Given the description of an element on the screen output the (x, y) to click on. 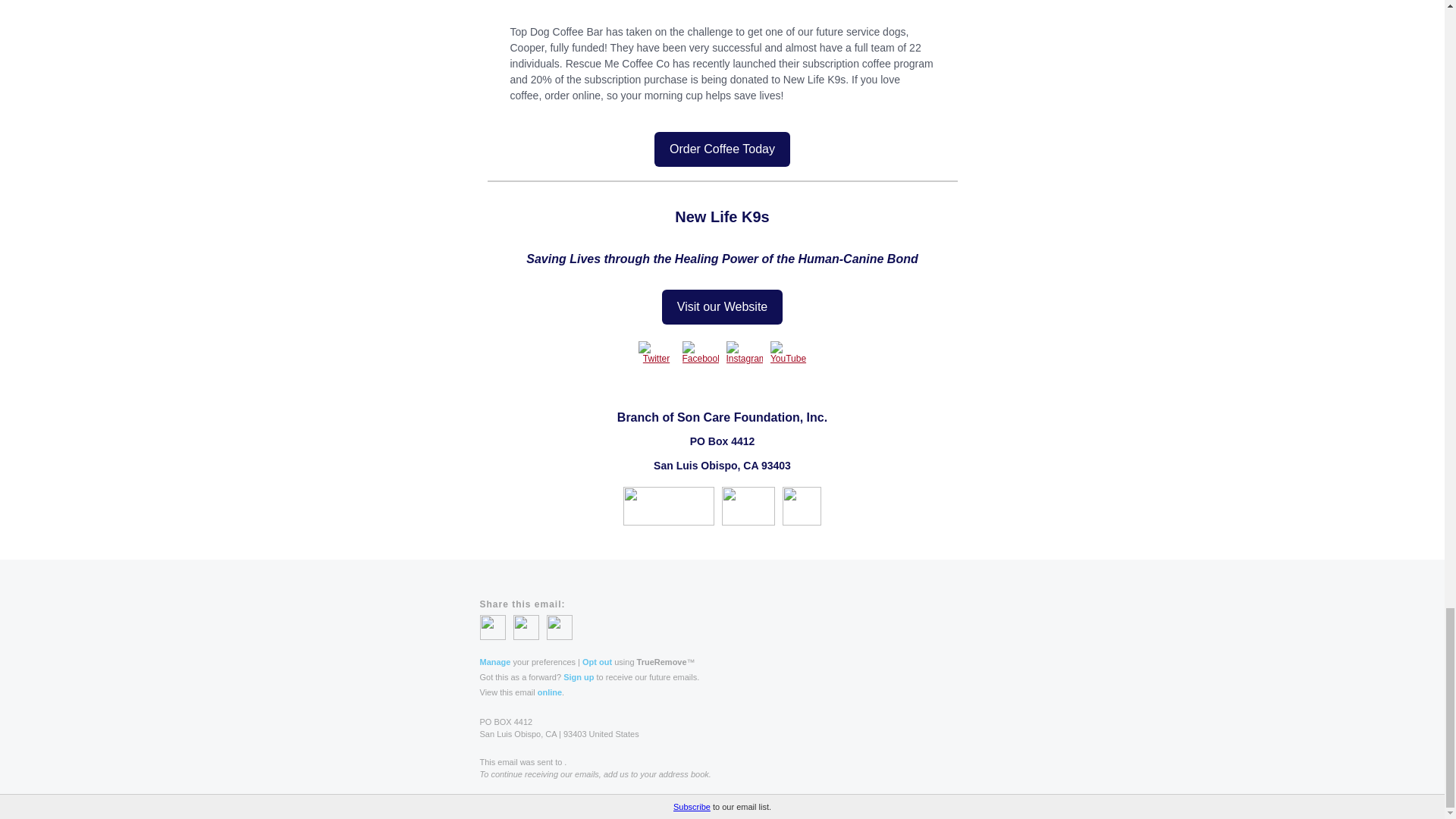
Manage (495, 661)
online (549, 691)
Visit our Website (721, 306)
Sign up (578, 676)
Order Coffee Today (722, 149)
Opt out (596, 661)
